Given the description of an element on the screen output the (x, y) to click on. 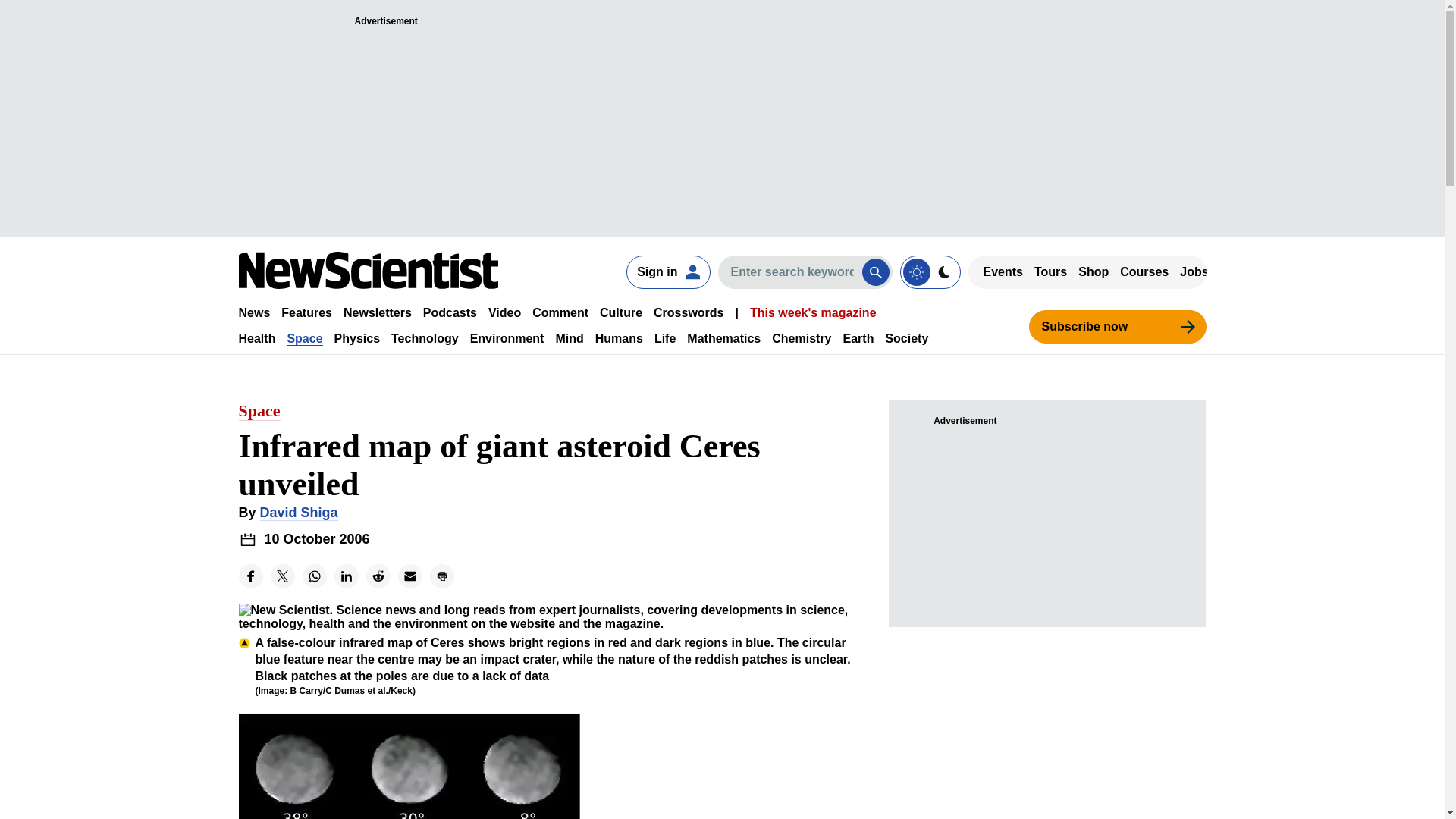
Earth (859, 338)
Sign in (668, 272)
Health (256, 338)
Link to the homepage (367, 270)
on (929, 272)
Newsletters (377, 313)
Chemistry (801, 338)
Tours (1050, 272)
Video (504, 313)
Calendar icon (247, 538)
